Given the description of an element on the screen output the (x, y) to click on. 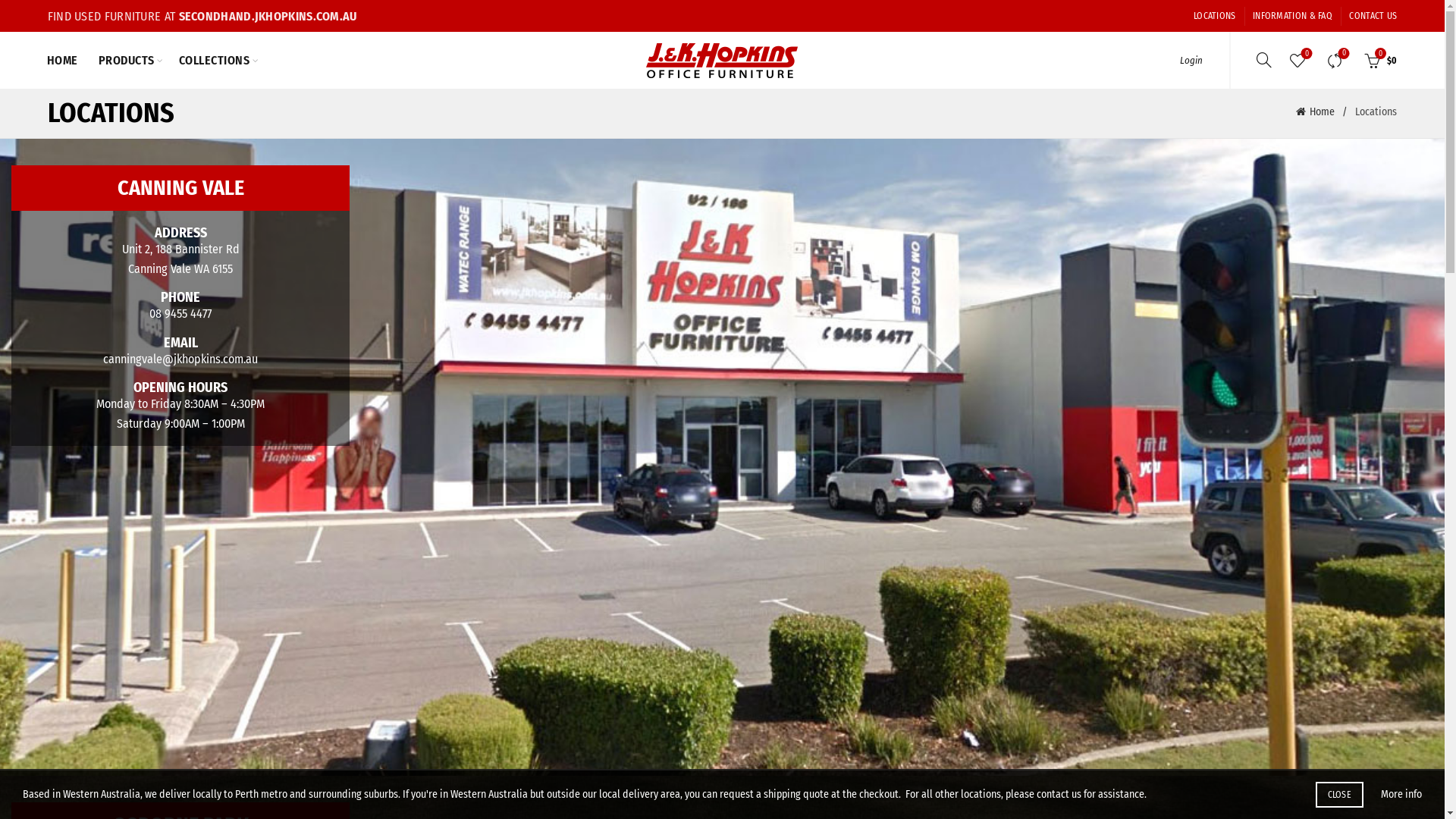
INFORMATION & FAQ Element type: text (1292, 15)
CONTACT US Element type: text (1372, 15)
LOCATIONS Element type: text (1214, 15)
Login Element type: text (1190, 59)
HOME Element type: text (62, 59)
Home Element type: text (1325, 111)
CLOSE Element type: text (1338, 794)
PRODUCTS Element type: text (126, 59)
0
$0 Element type: text (1378, 59)
Compare
0 Element type: text (1334, 59)
SECONDHAND.JKHOPKINS.COM.AU Element type: text (267, 16)
Search Element type: text (1244, 101)
COLLECTIONS Element type: text (214, 59)
More info Element type: text (1400, 794)
Wishlist
0 Element type: text (1297, 59)
